Given the description of an element on the screen output the (x, y) to click on. 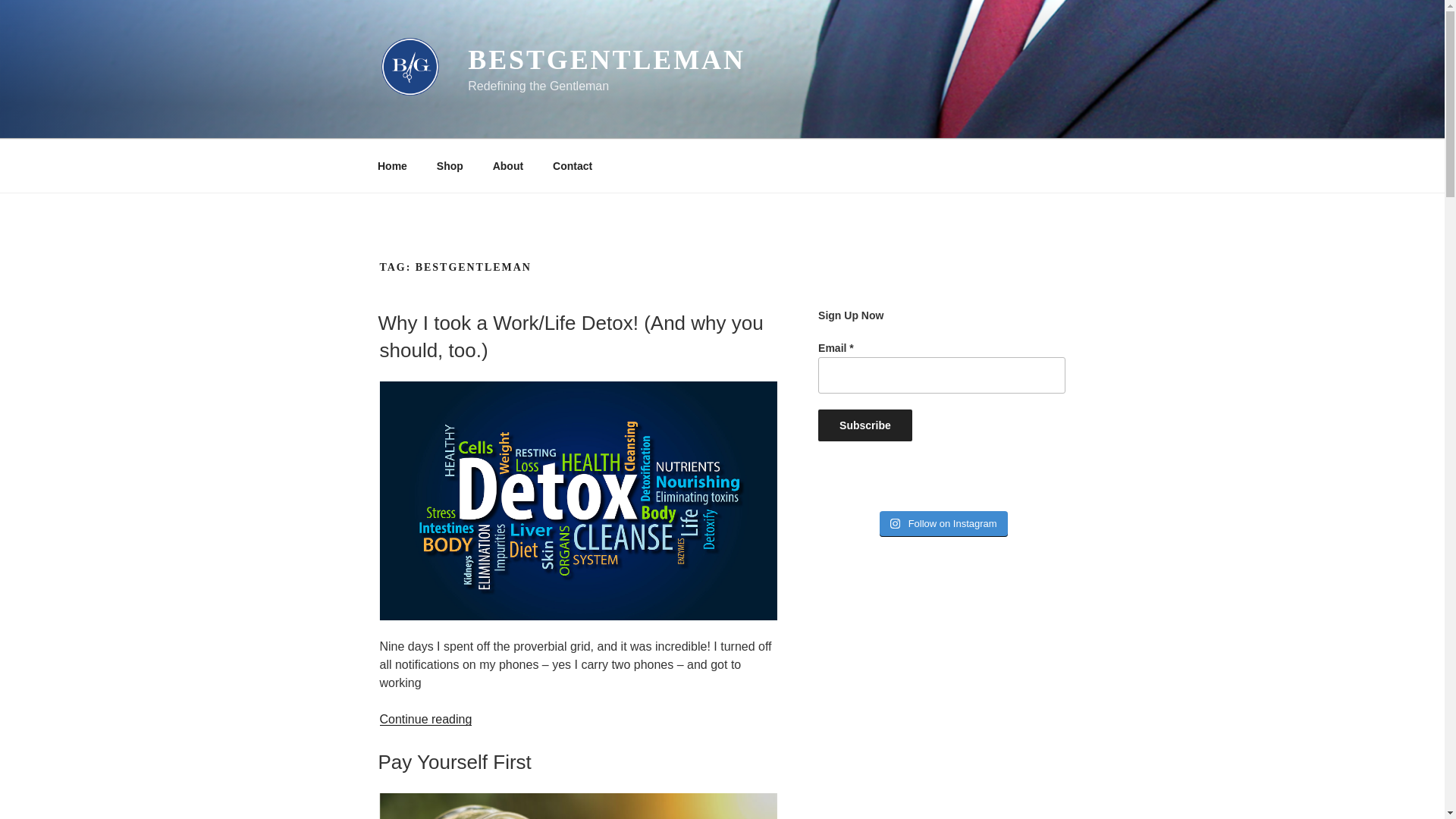
About (507, 165)
BESTGENTLEMAN (606, 60)
Subscribe (865, 425)
Shop (449, 165)
Subscribe (865, 425)
Follow on Instagram (943, 524)
Pay Yourself First (454, 762)
Home (392, 165)
Contact (572, 165)
